Given the description of an element on the screen output the (x, y) to click on. 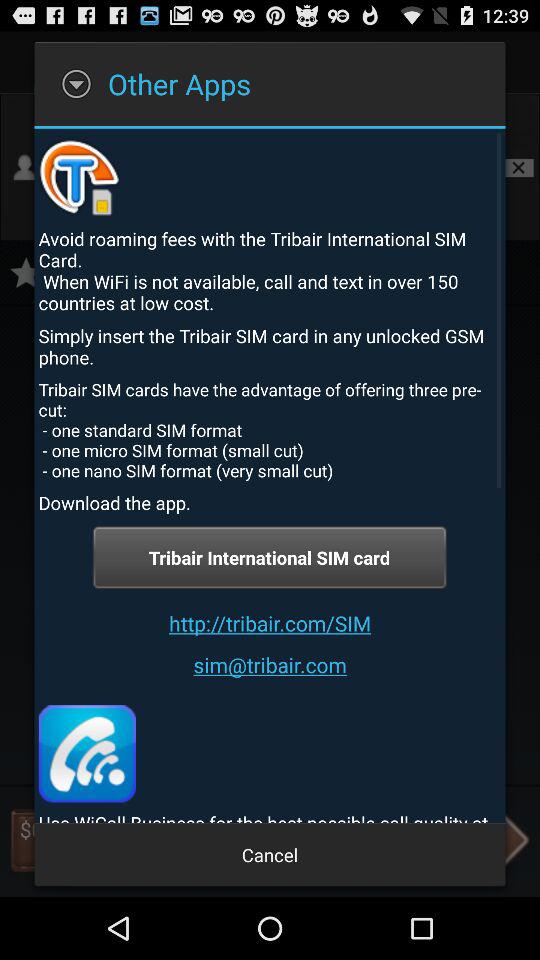
select cancel icon (269, 854)
